Given the description of an element on the screen output the (x, y) to click on. 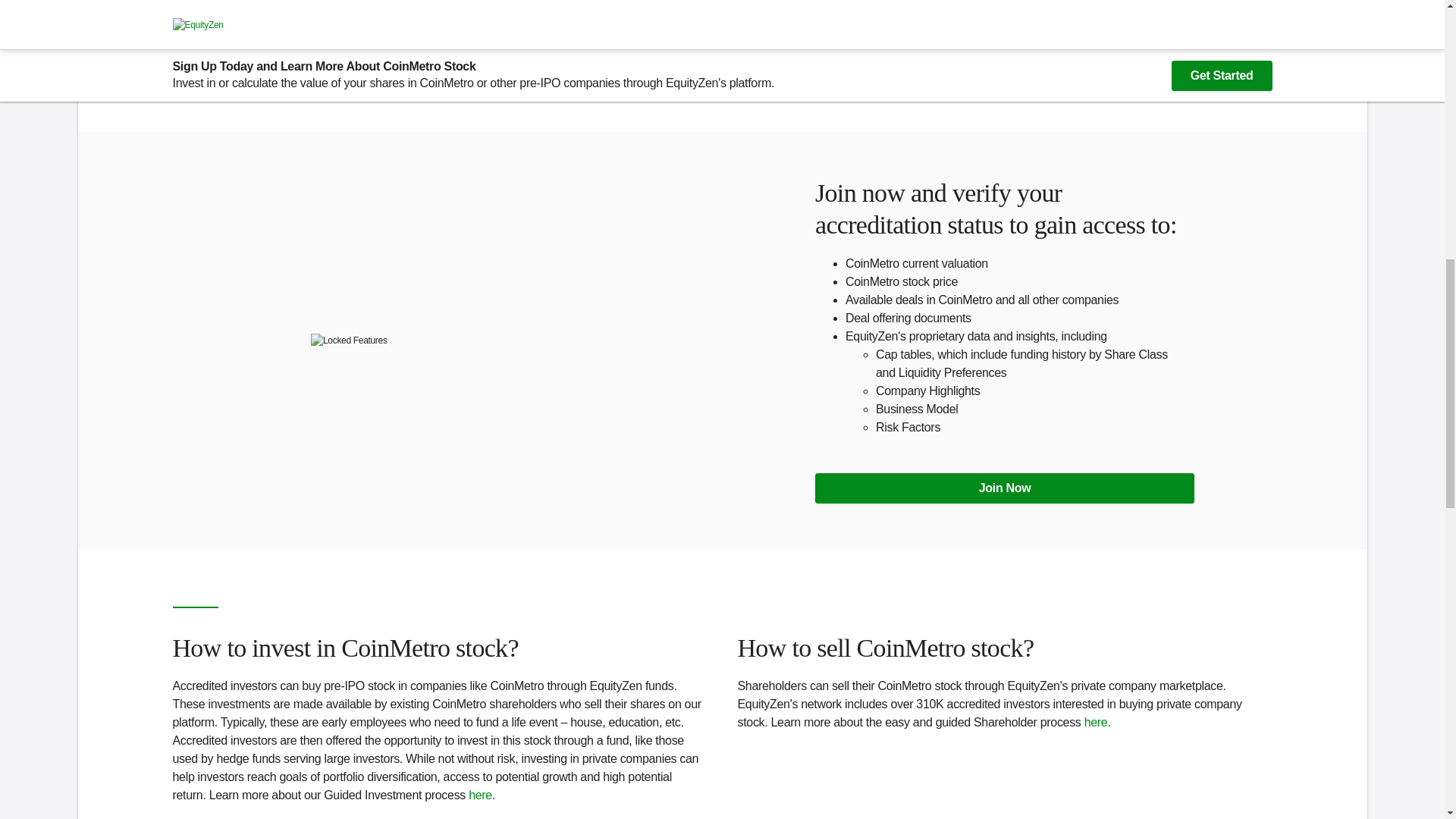
Join Now (1004, 488)
here (1096, 721)
here (480, 794)
